Given the description of an element on the screen output the (x, y) to click on. 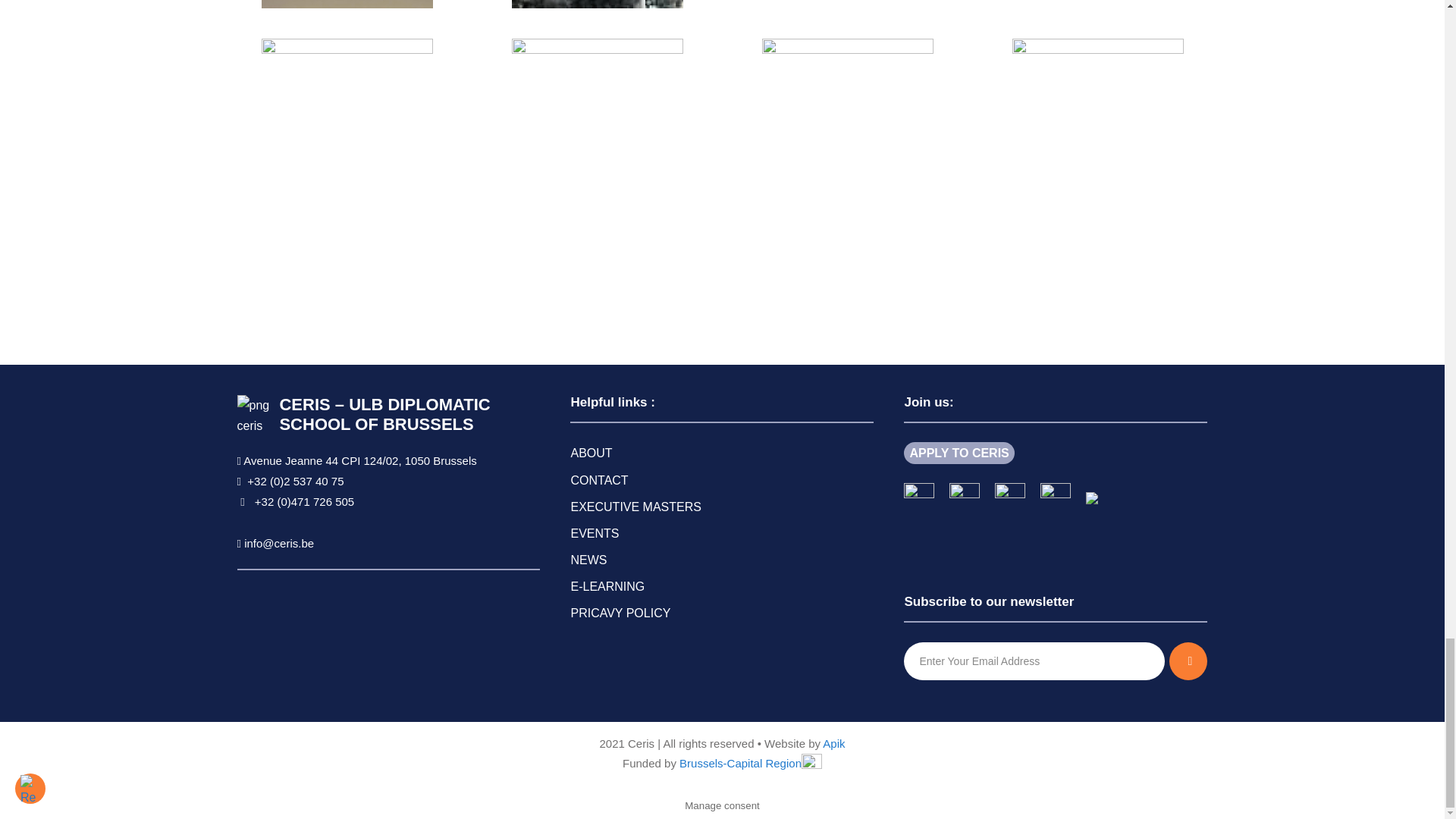
Mesuring Peace-Caplan-340 (346, 4)
Subscribe (1188, 661)
Exit Strategies-Caplan-340 (596, 4)
State of the Union 1994-Caplan-340 (1096, 4)
International Governance-Caplan-226 (847, 4)
